Given the description of an element on the screen output the (x, y) to click on. 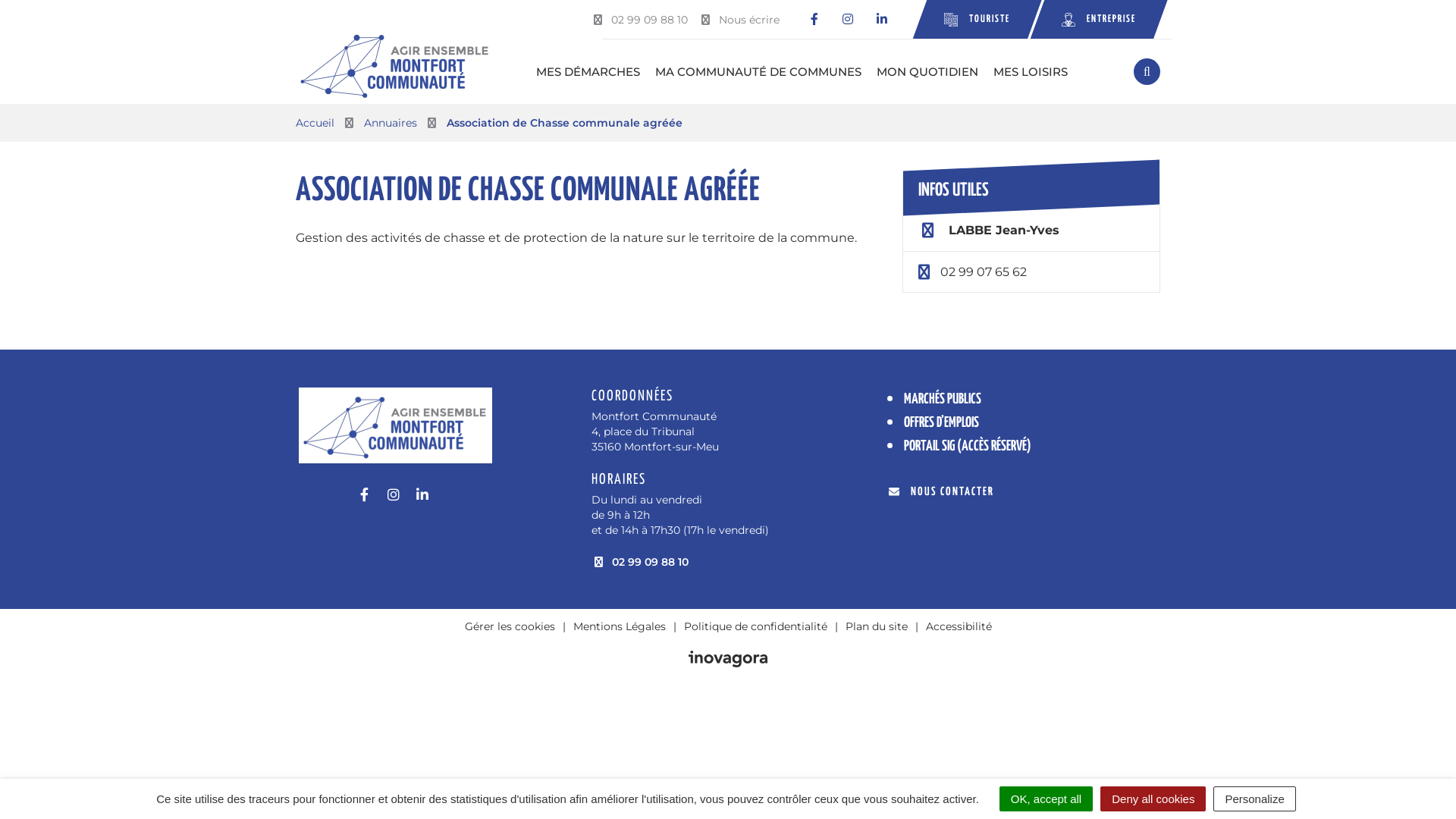
Lien vers le compte Linkedin Element type: text (421, 494)
MES LOISIRS Element type: text (1030, 71)
Accueil Element type: text (314, 122)
TOURISTE Element type: text (970, 19)
MON QUOTIDIEN Element type: text (927, 71)
Lien vers le compte Instagram Element type: text (392, 494)
02 99 09 88 10 Element type: text (639, 561)
Lien vers le compte Facebook Element type: text (814, 19)
02 99 07 65 62 Element type: text (983, 271)
NOUS CONTACTER Element type: text (941, 491)
02 99 09 88 10 Element type: text (638, 19)
Lien vers le compte Facebook Element type: text (364, 494)
Personalize Element type: text (1254, 798)
OK, accept all Element type: text (1045, 798)
Plan du site Element type: text (875, 626)
ENTREPRISE Element type: text (1091, 19)
Lien vers le compte Instagram Element type: text (848, 19)
RECHERCHE Element type: text (1146, 71)
Deny all cookies Element type: text (1152, 798)
Lien vers le compte Linkedin Element type: text (881, 19)
Annuaires Element type: text (390, 122)
